Given the description of an element on the screen output the (x, y) to click on. 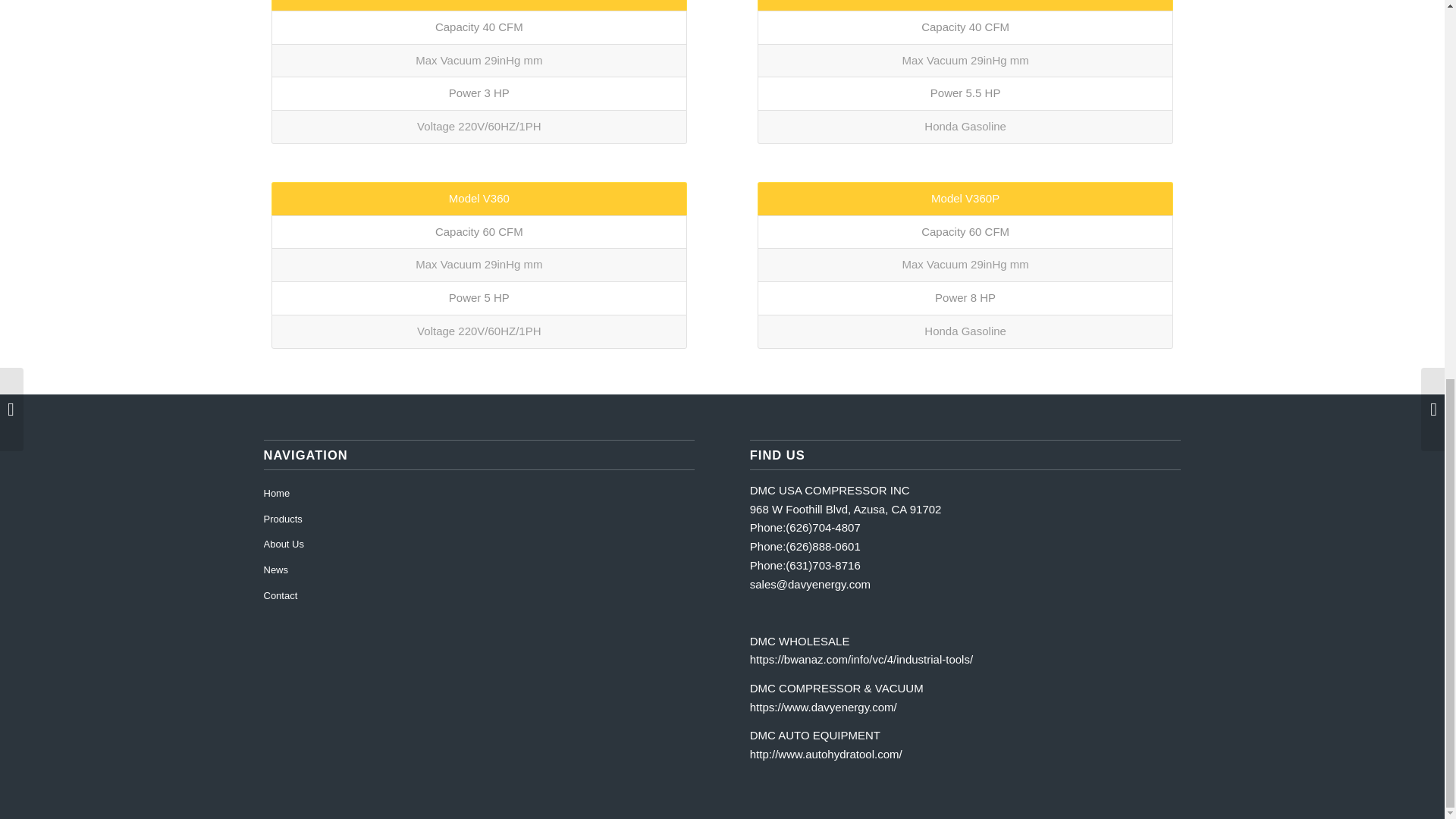
Home (479, 493)
Contact (479, 596)
About Us (479, 544)
News (479, 570)
Products (479, 519)
